Given the description of an element on the screen output the (x, y) to click on. 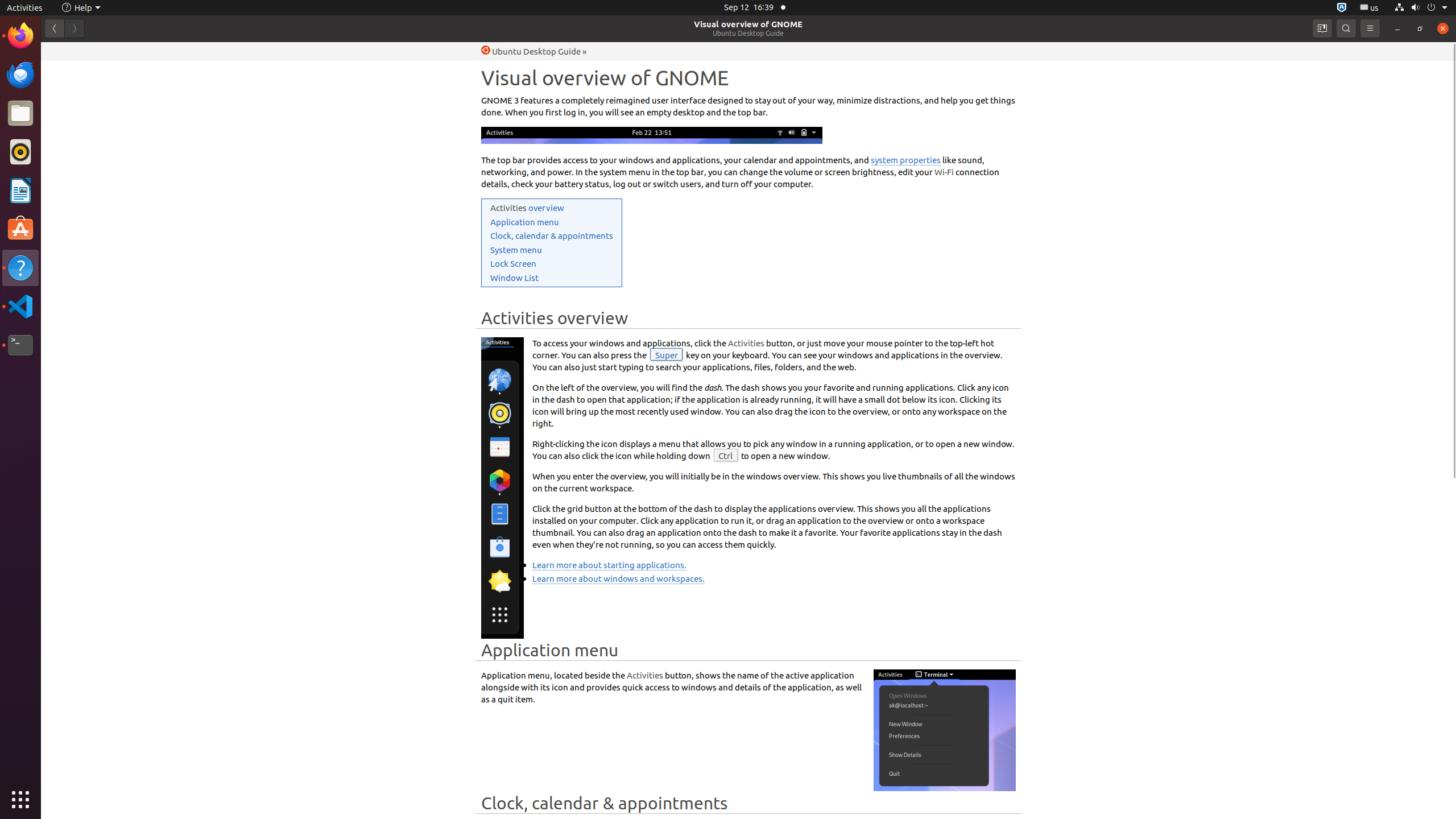
Ubuntu Desktop Guide Element type: label (748, 33)
System menu Element type: link (516, 249)
